Given the description of an element on the screen output the (x, y) to click on. 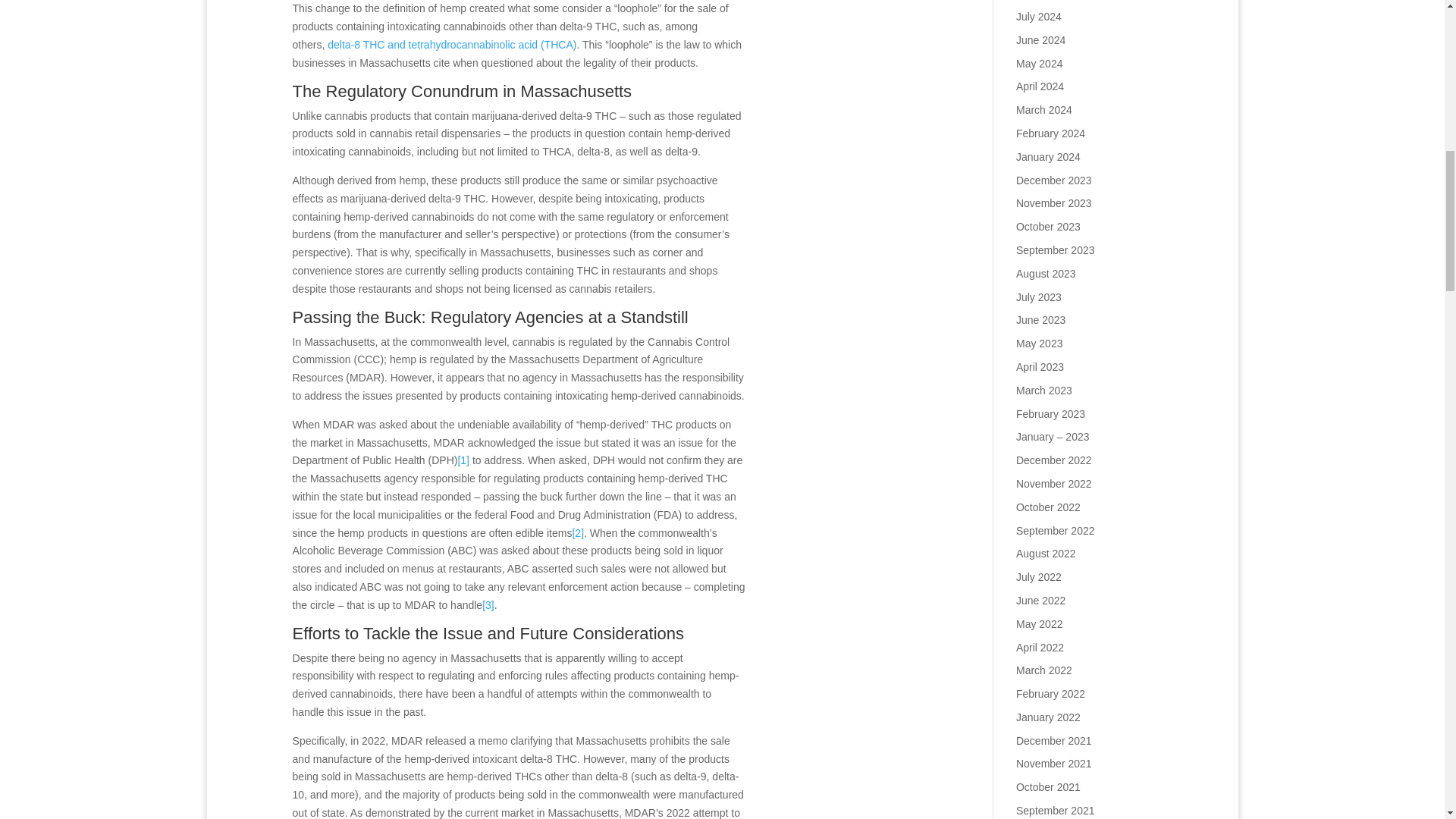
June 2024 (1040, 39)
July 2024 (1038, 16)
